Given the description of an element on the screen output the (x, y) to click on. 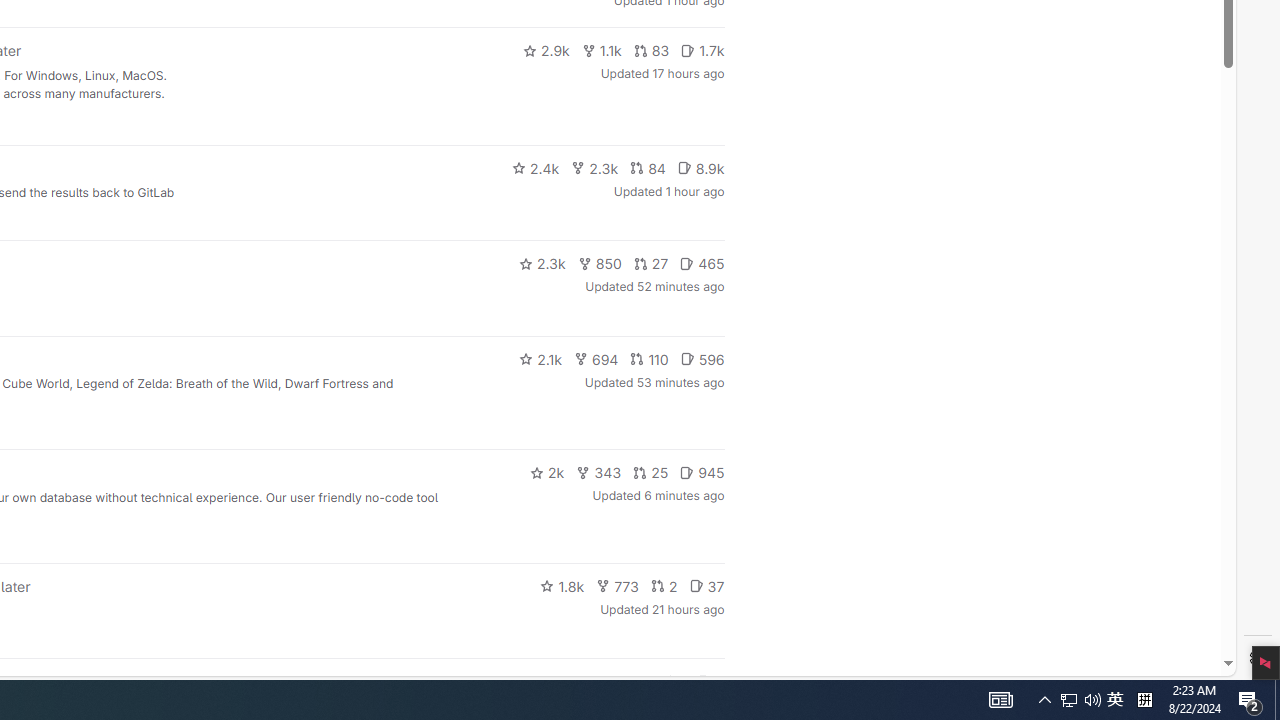
465 (701, 263)
110 (649, 358)
2.4k (535, 167)
2.1k (539, 358)
2k (546, 472)
27 (651, 263)
1.4k (573, 681)
2.9k (545, 50)
84 (647, 167)
1.1k (601, 50)
6 (710, 681)
83 (651, 50)
596 (701, 358)
773 (618, 585)
